Given the description of an element on the screen output the (x, y) to click on. 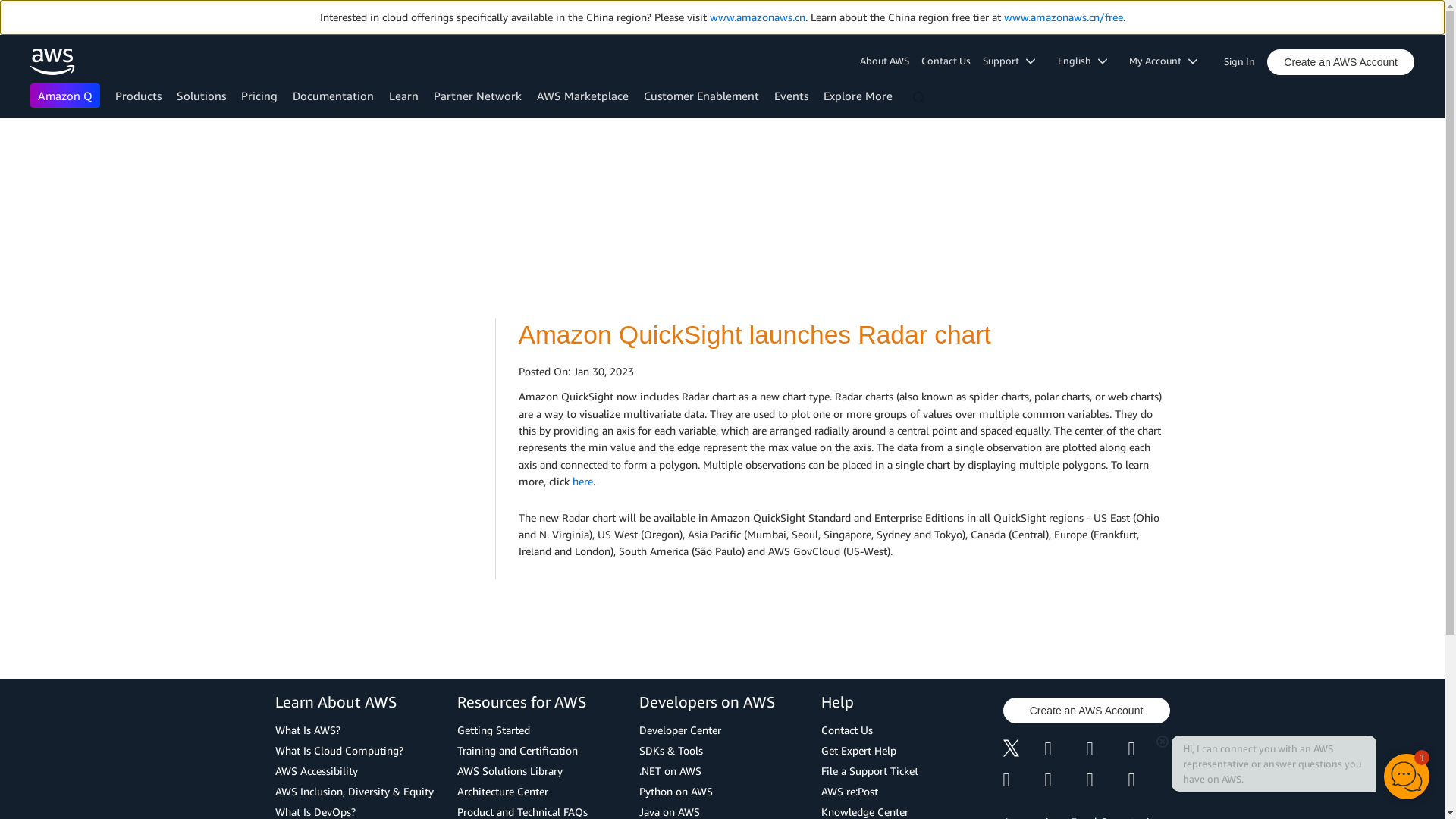
www.amazonaws.cn (757, 16)
Solutions (200, 95)
YouTube (1065, 780)
Linkedin (1106, 750)
Twitch (1023, 780)
Contact Us (945, 60)
Learn (403, 95)
Sign In (1244, 58)
Pricing (259, 95)
Create an AWS Account (1339, 62)
Support   (1013, 60)
Podcast (1106, 780)
Amazon Q (65, 95)
Skip to main content (7, 146)
Customer Enablement (700, 95)
